Given the description of an element on the screen output the (x, y) to click on. 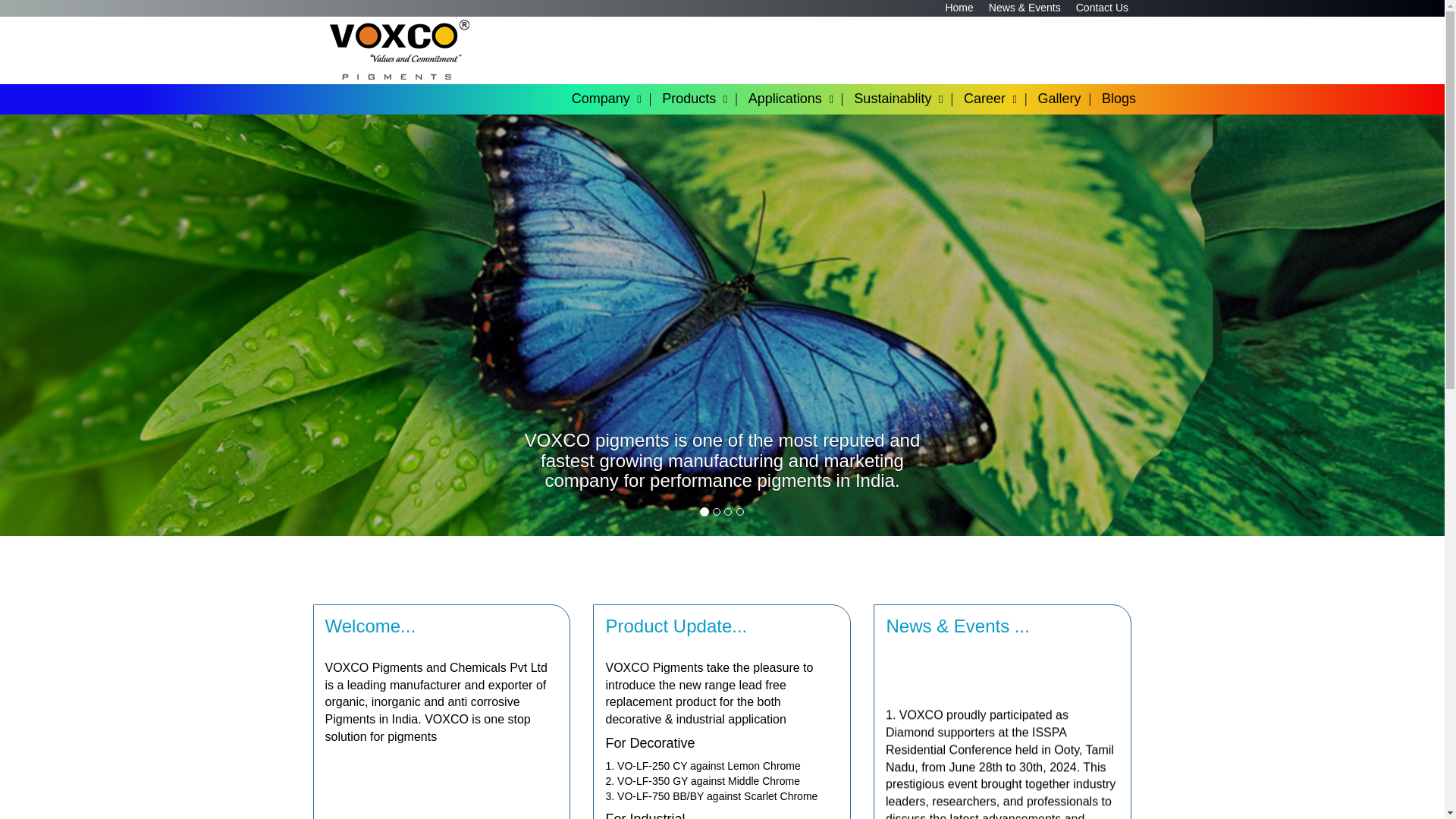
Home (958, 7)
Applications (799, 99)
Blogs (1128, 99)
Contact Us (1101, 7)
Gallery (1067, 99)
Products (703, 99)
Company (615, 99)
